Given the description of an element on the screen output the (x, y) to click on. 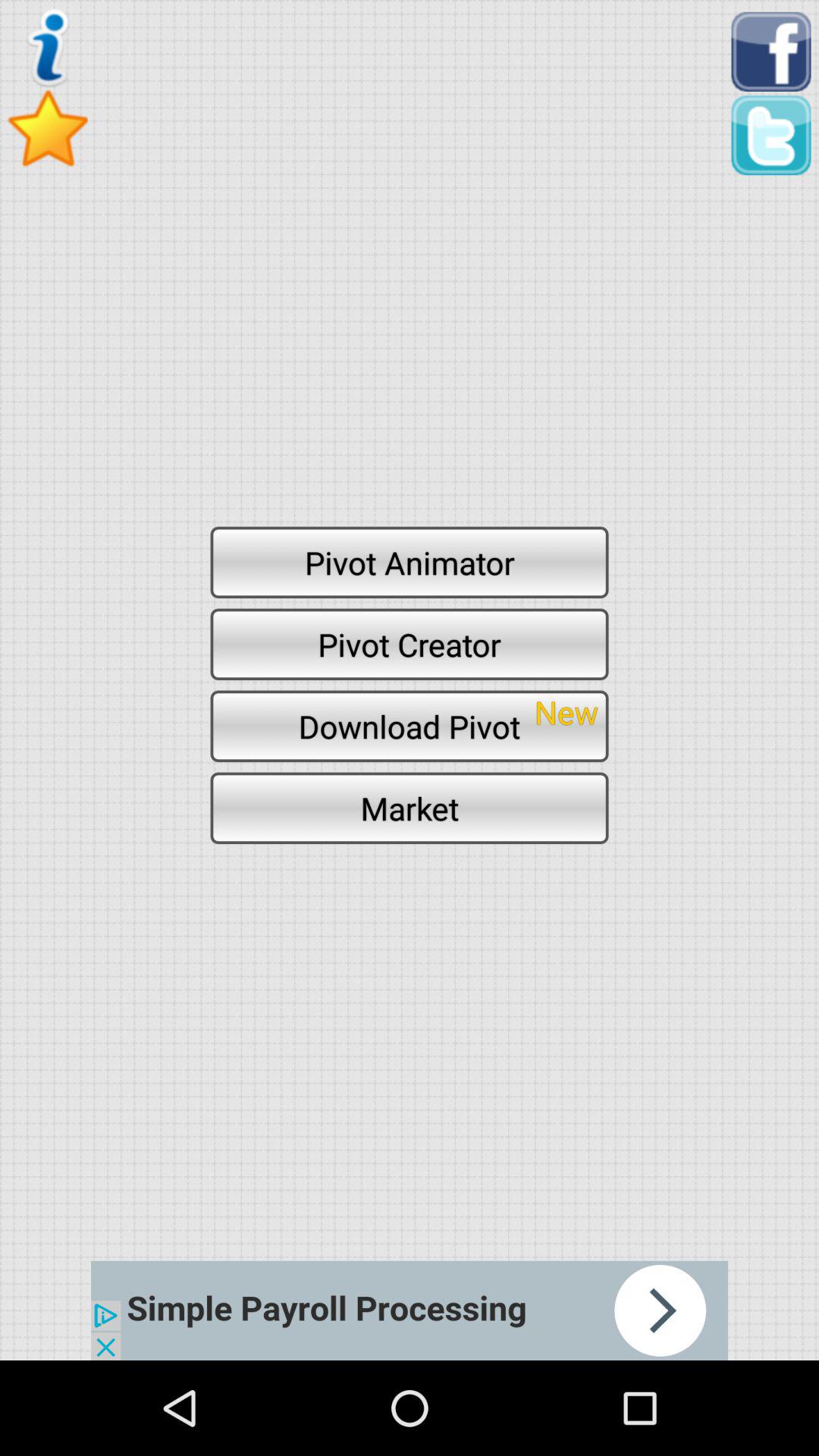
press icon above pivot creator (409, 562)
